Given the description of an element on the screen output the (x, y) to click on. 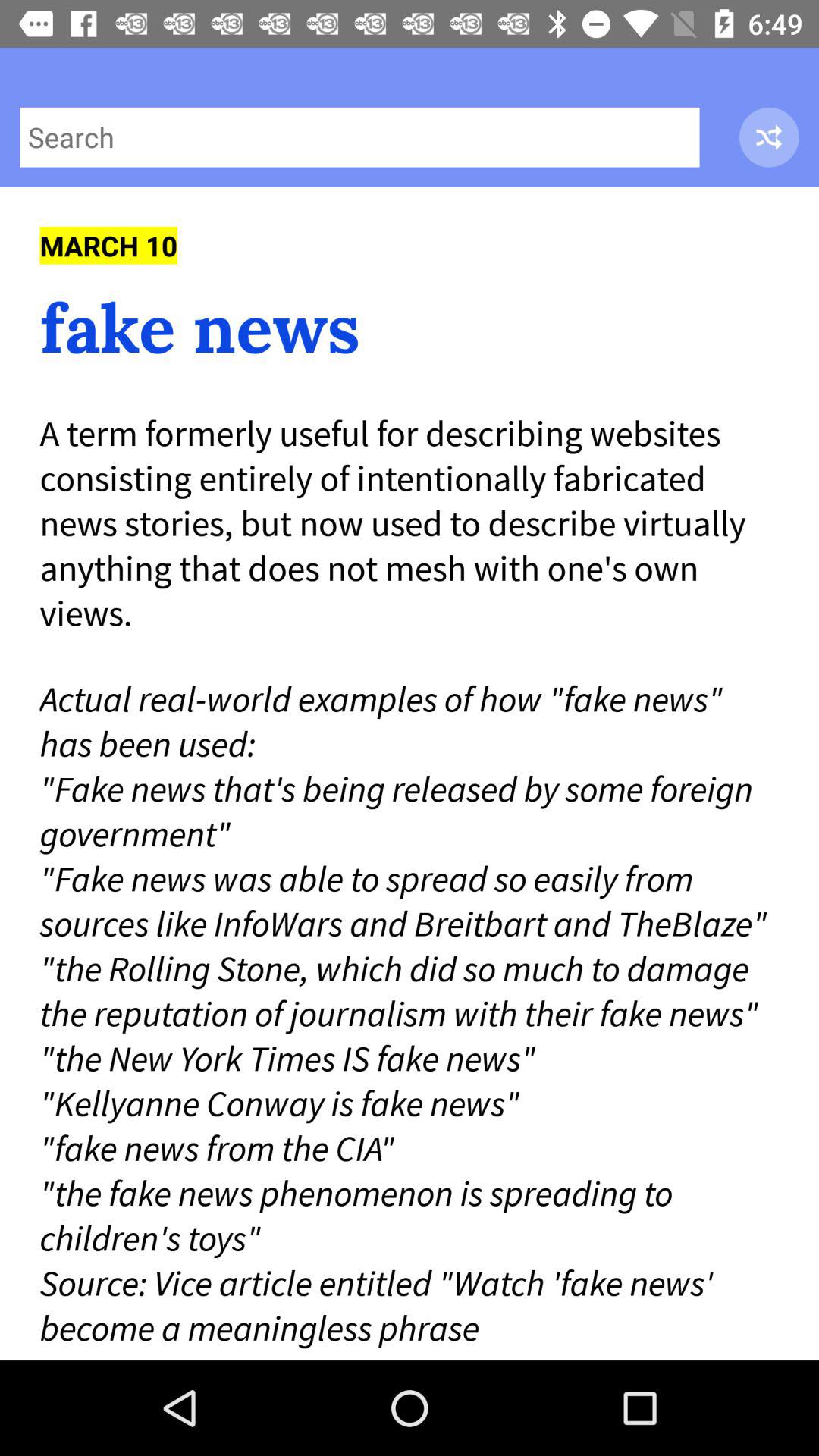
search the website (359, 137)
